Given the description of an element on the screen output the (x, y) to click on. 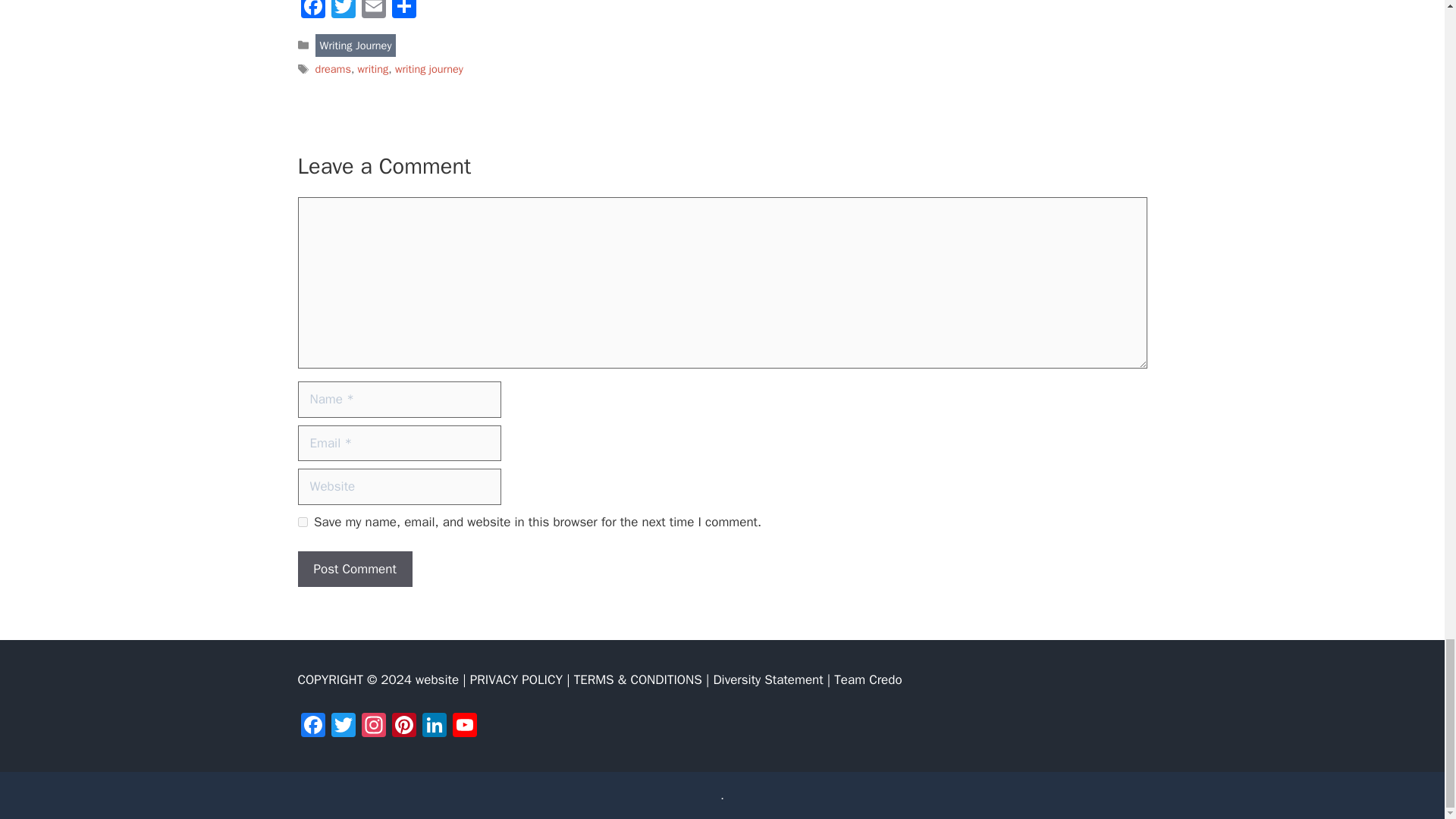
writing (373, 69)
writing journey (428, 69)
YouTube Channel (463, 727)
Writing Journey (355, 45)
yes (302, 521)
Facebook (312, 727)
LinkedIn (433, 727)
Instagram (373, 727)
Twitter (342, 11)
Pinterest (403, 727)
